Given the description of an element on the screen output the (x, y) to click on. 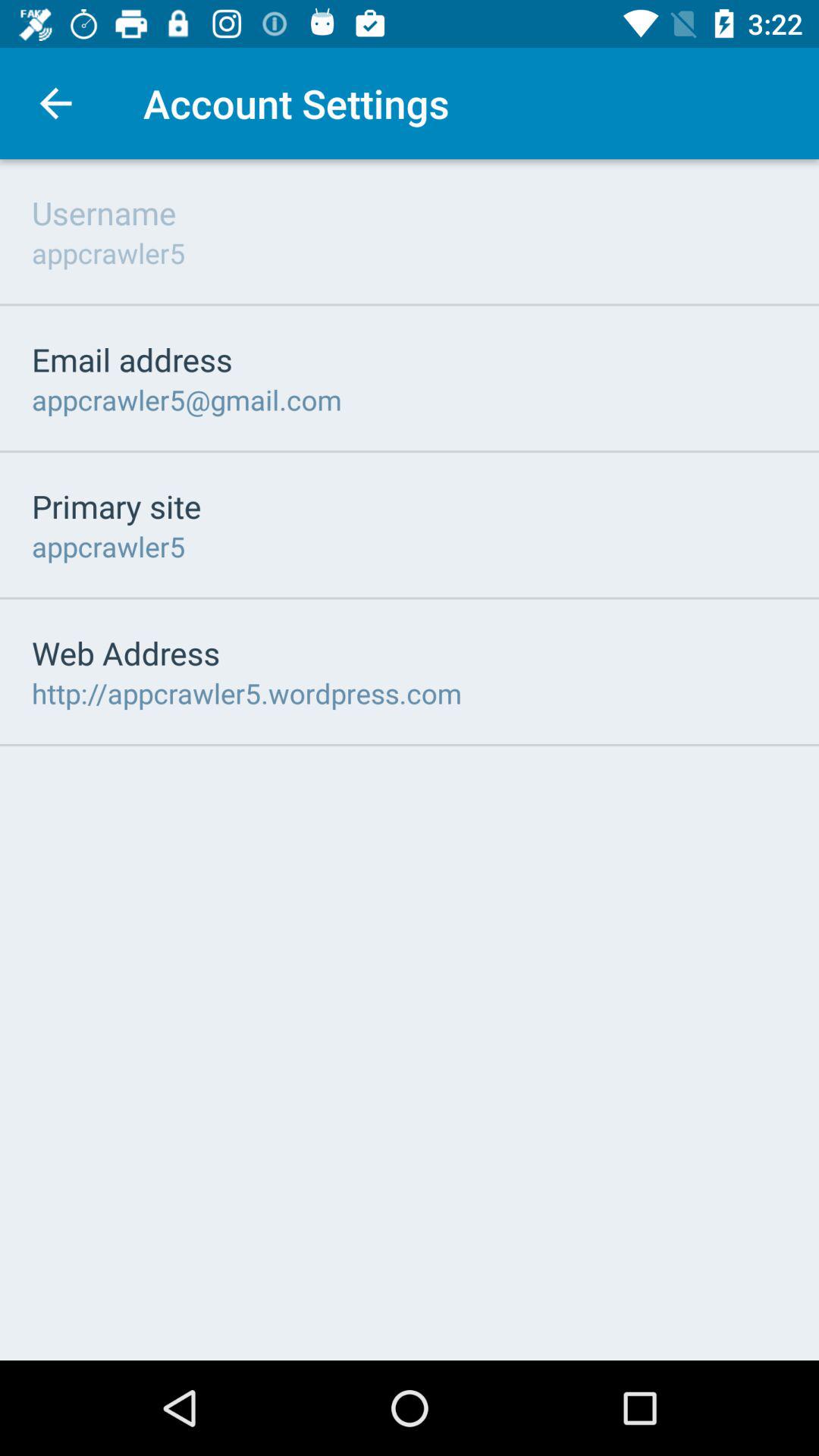
swipe to web address item (125, 652)
